Given the description of an element on the screen output the (x, y) to click on. 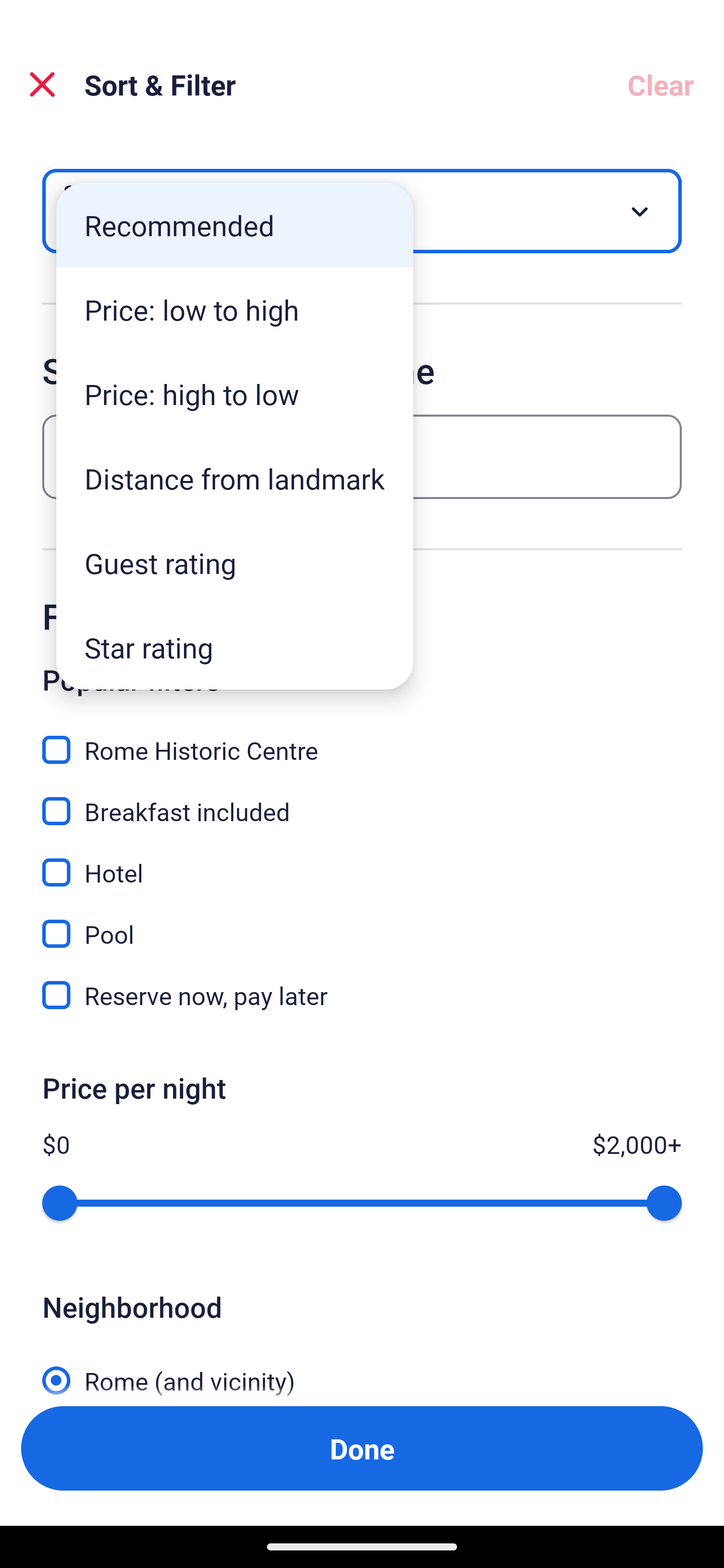
Price: low to high (234, 309)
Price: high to low (234, 393)
Distance from landmark (234, 477)
Guest rating (234, 562)
Star rating (234, 647)
